Given the description of an element on the screen output the (x, y) to click on. 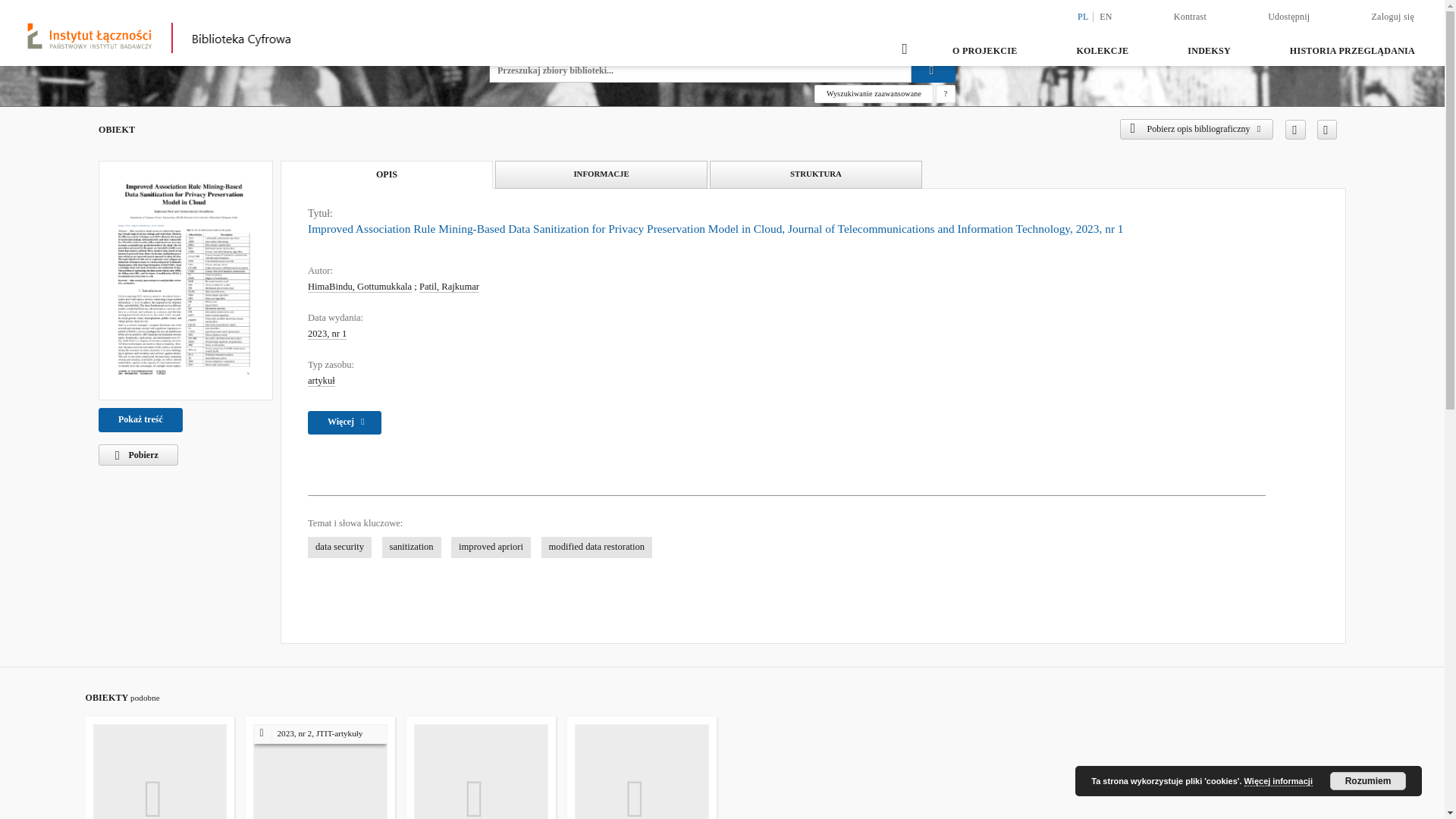
PL (1083, 17)
KOLEKCJE (1101, 50)
Kontrast (1189, 15)
O PROJEKCIE (984, 50)
EN (1106, 17)
